Given the description of an element on the screen output the (x, y) to click on. 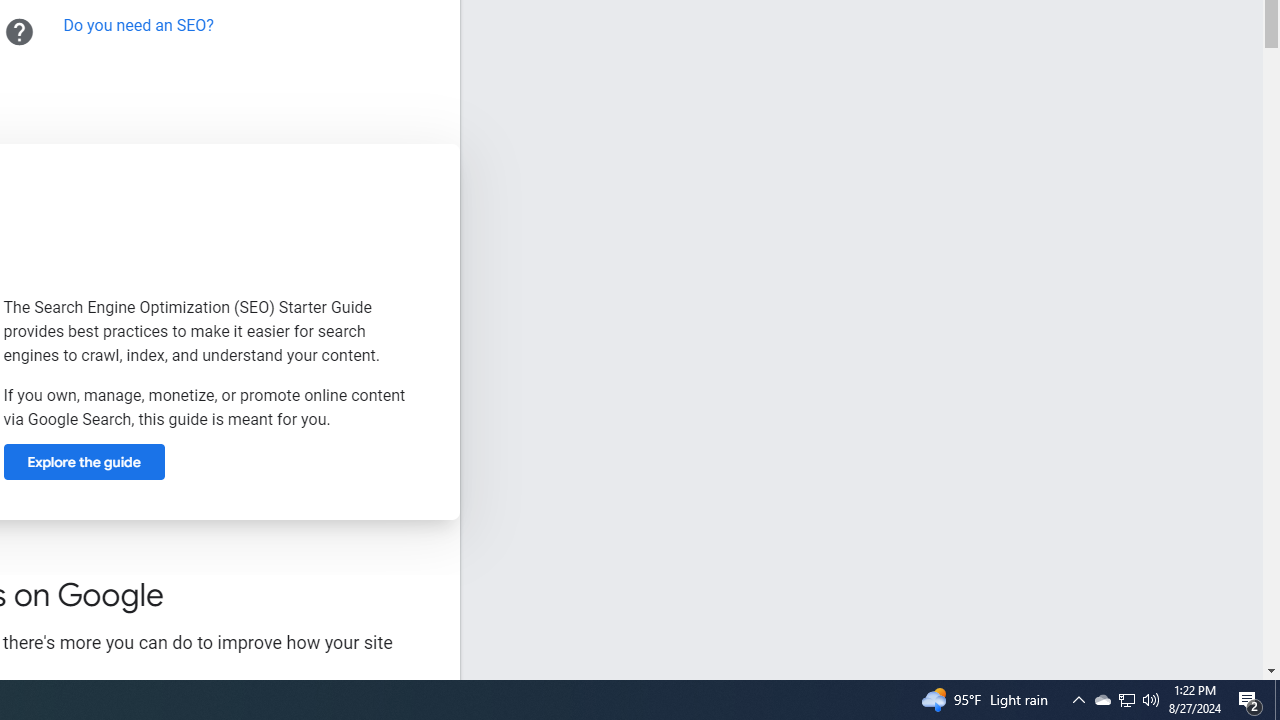
Do you need an SEO? (137, 25)
Explore the guide (83, 462)
